Given the description of an element on the screen output the (x, y) to click on. 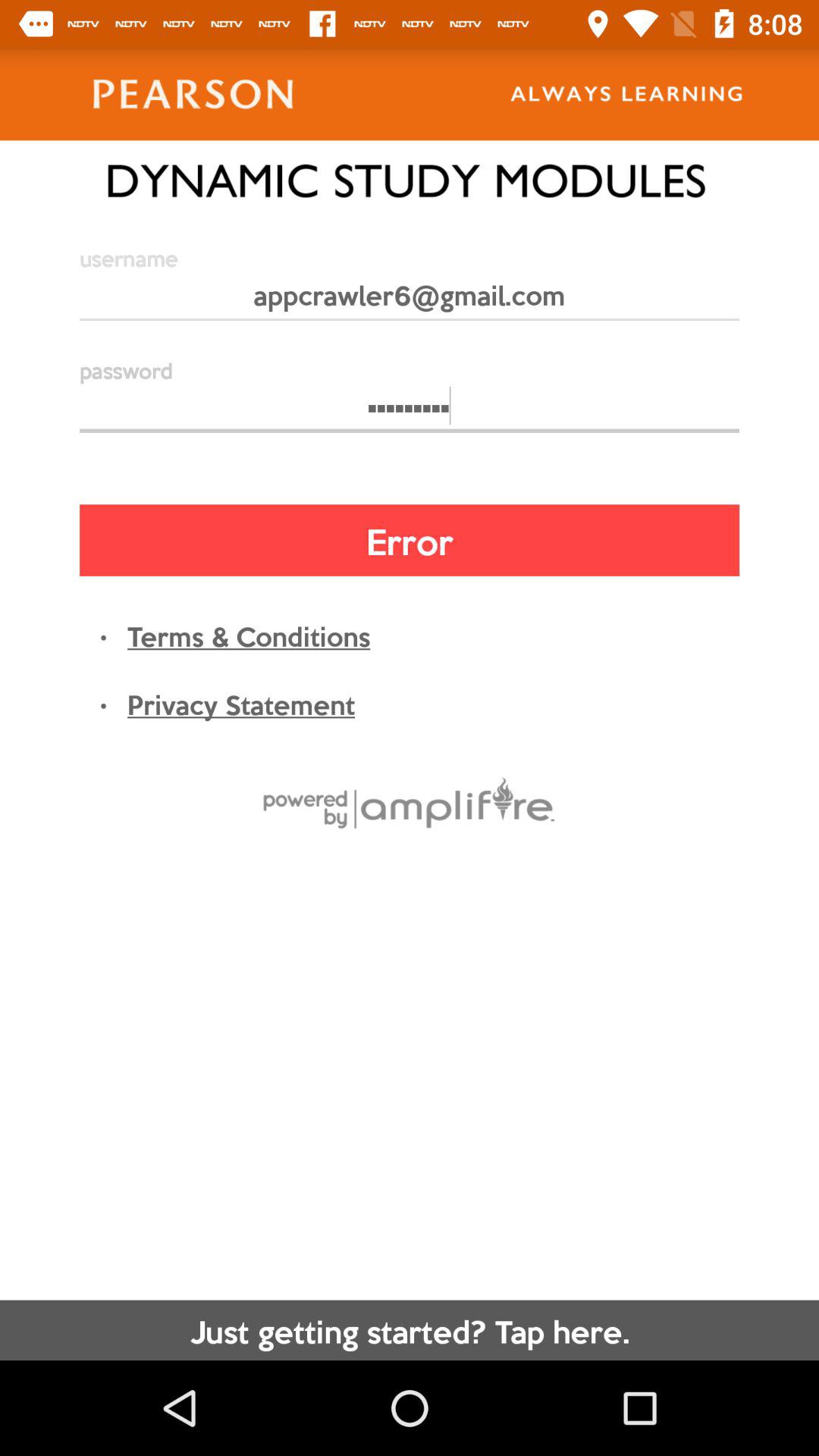
flip to the appcrawler6@gmail.com item (409, 301)
